Given the description of an element on the screen output the (x, y) to click on. 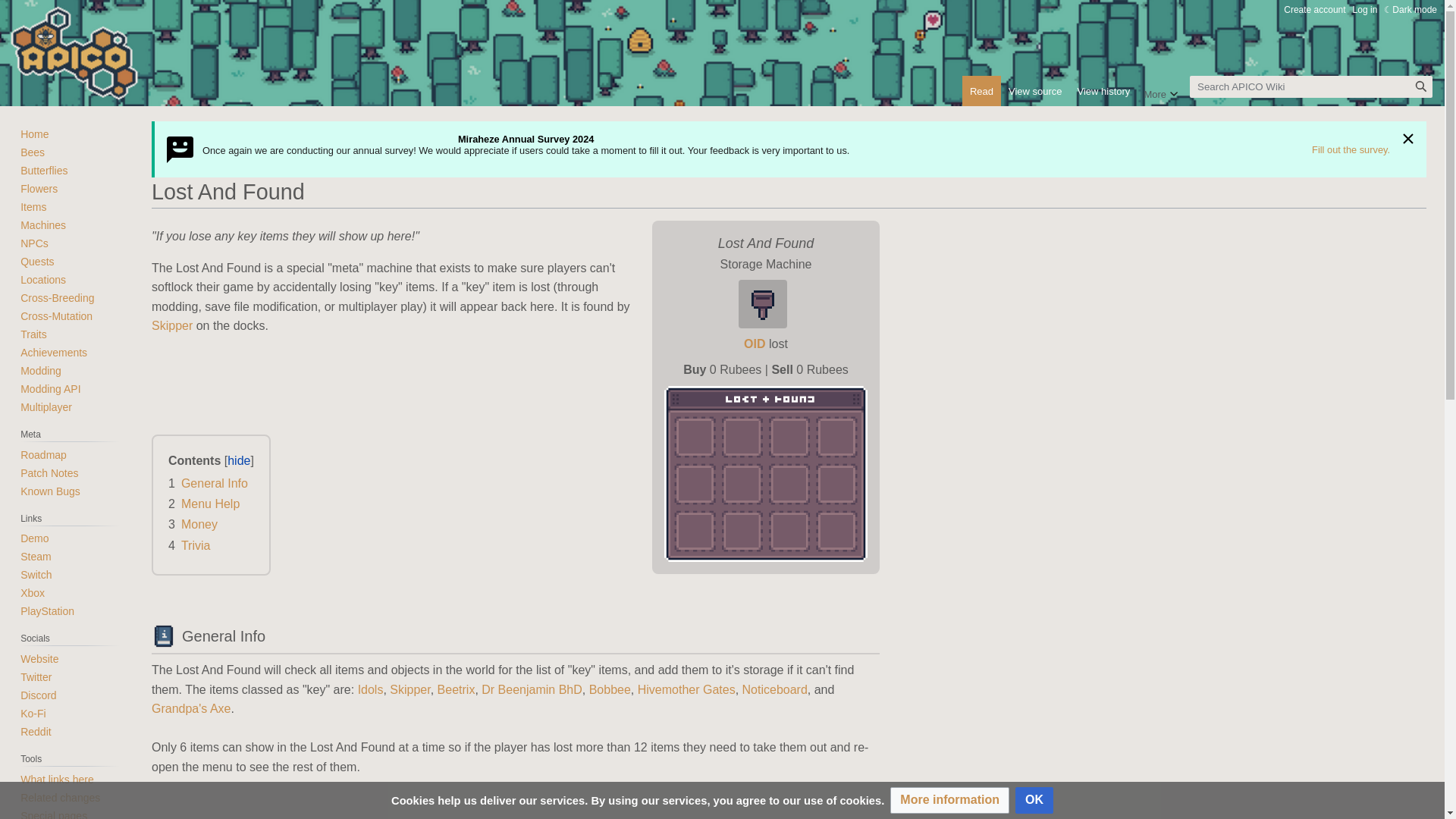
4 Trivia (188, 545)
Read (981, 91)
OID (754, 343)
Search (1420, 86)
Search (1420, 86)
Beetrix (457, 689)
Grandpa's Axe (190, 707)
Go (1420, 86)
Search (1420, 86)
Hivemother Gate (686, 689)
Skipper (409, 689)
Hide (1407, 138)
Noticeboard (775, 689)
Item Sprite (765, 303)
2 Menu Help (204, 503)
